Given the description of an element on the screen output the (x, y) to click on. 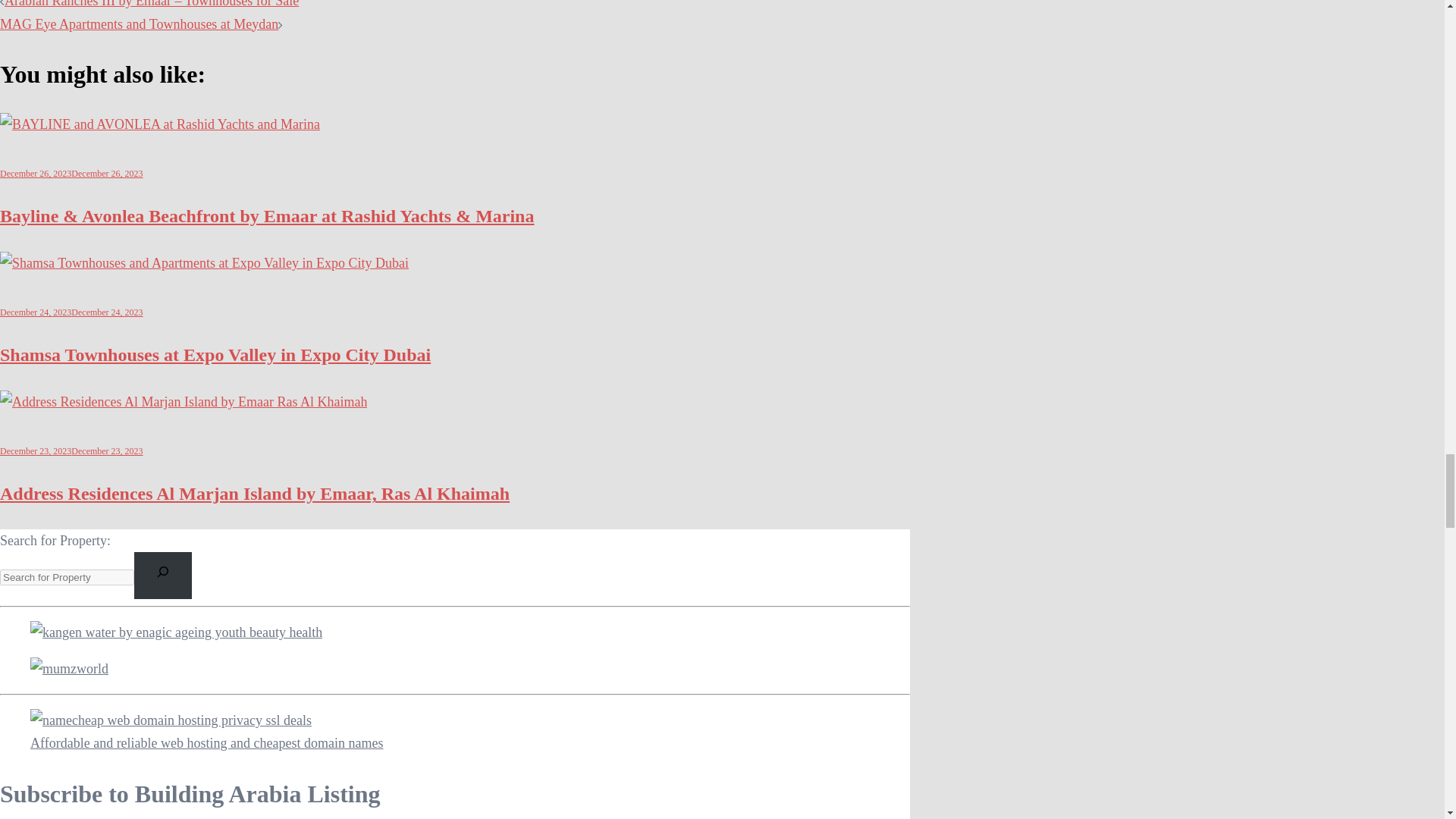
Shamsa Townhouses at Expo Valley in Expo City Dubai (204, 263)
December 26, 2023December 26, 2023 (71, 173)
December 23, 2023December 23, 2023 (71, 450)
December 24, 2023December 24, 2023 (71, 312)
Address Residences Al Marjan Island by Emaar, Ras Al Khaimah (254, 493)
MAG Eye Apartments and Townhouses at Meydan (139, 23)
Shamsa Townhouses at Expo Valley in Expo City Dubai (215, 354)
Address Residences Al Marjan Island by Emaar, Ras Al Khaimah (183, 401)
